Given the description of an element on the screen output the (x, y) to click on. 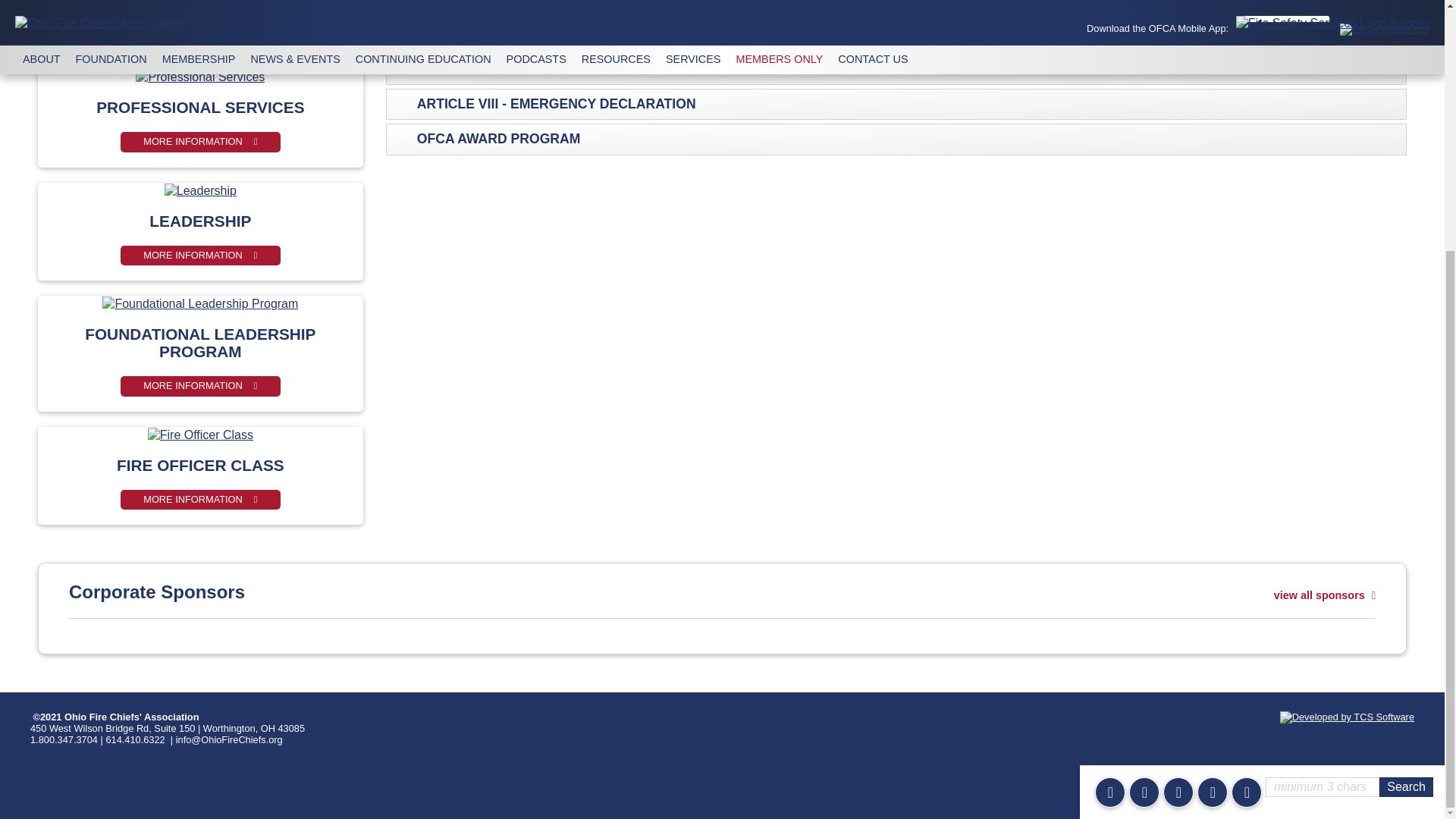
Search (1405, 435)
Medicount (199, 39)
Search (1405, 435)
Search (1405, 435)
